Given the description of an element on the screen output the (x, y) to click on. 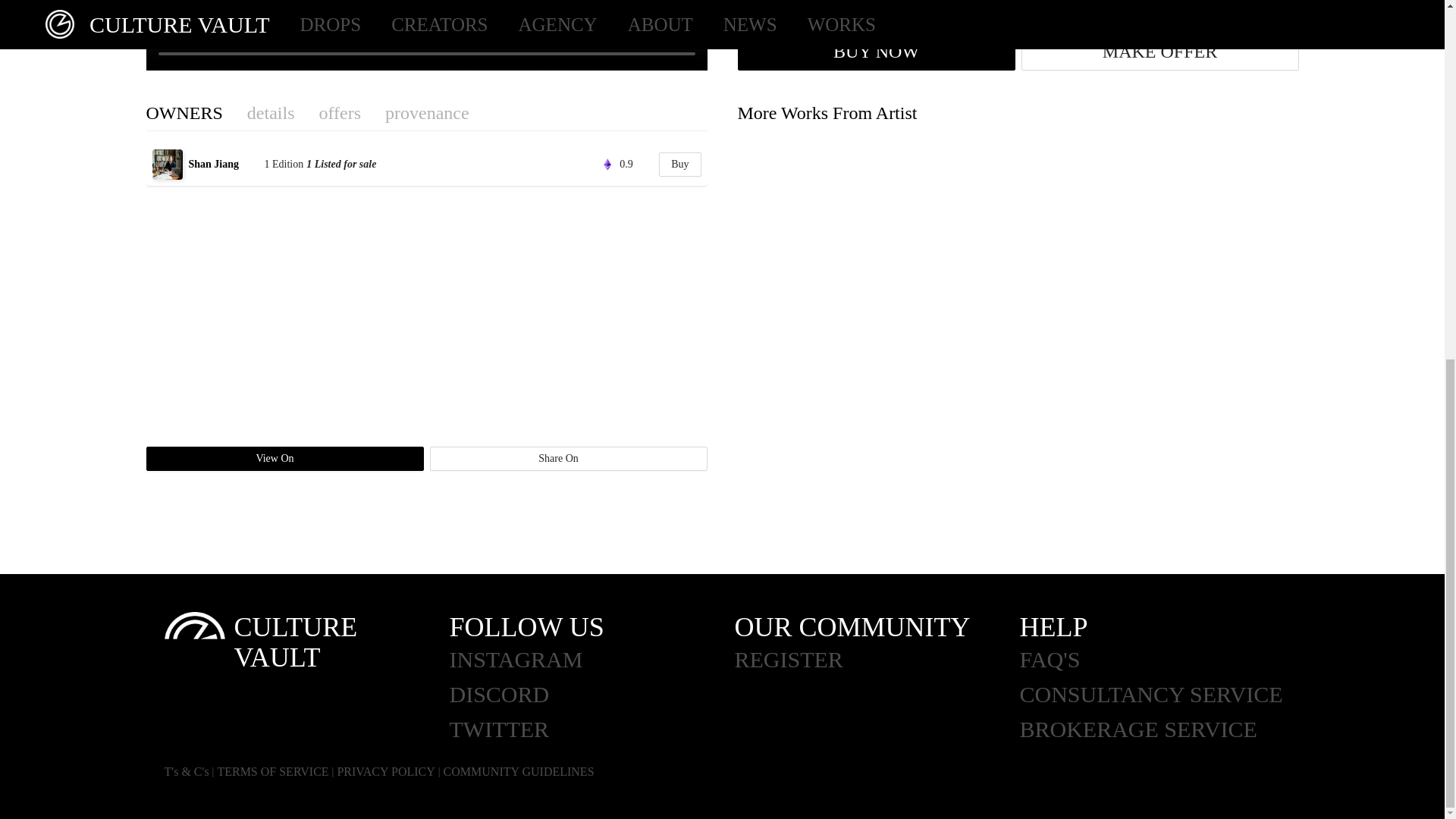
BUY NOW (875, 51)
FAQ'S (1161, 659)
View On (284, 458)
REGISTER (876, 659)
COMMUNITY GUIDELINES (519, 771)
PRIVACY POLICY (384, 771)
Buy (679, 164)
MAKE OFFER (1159, 51)
Shan Jiang (223, 164)
Share On (567, 458)
